Given the description of an element on the screen output the (x, y) to click on. 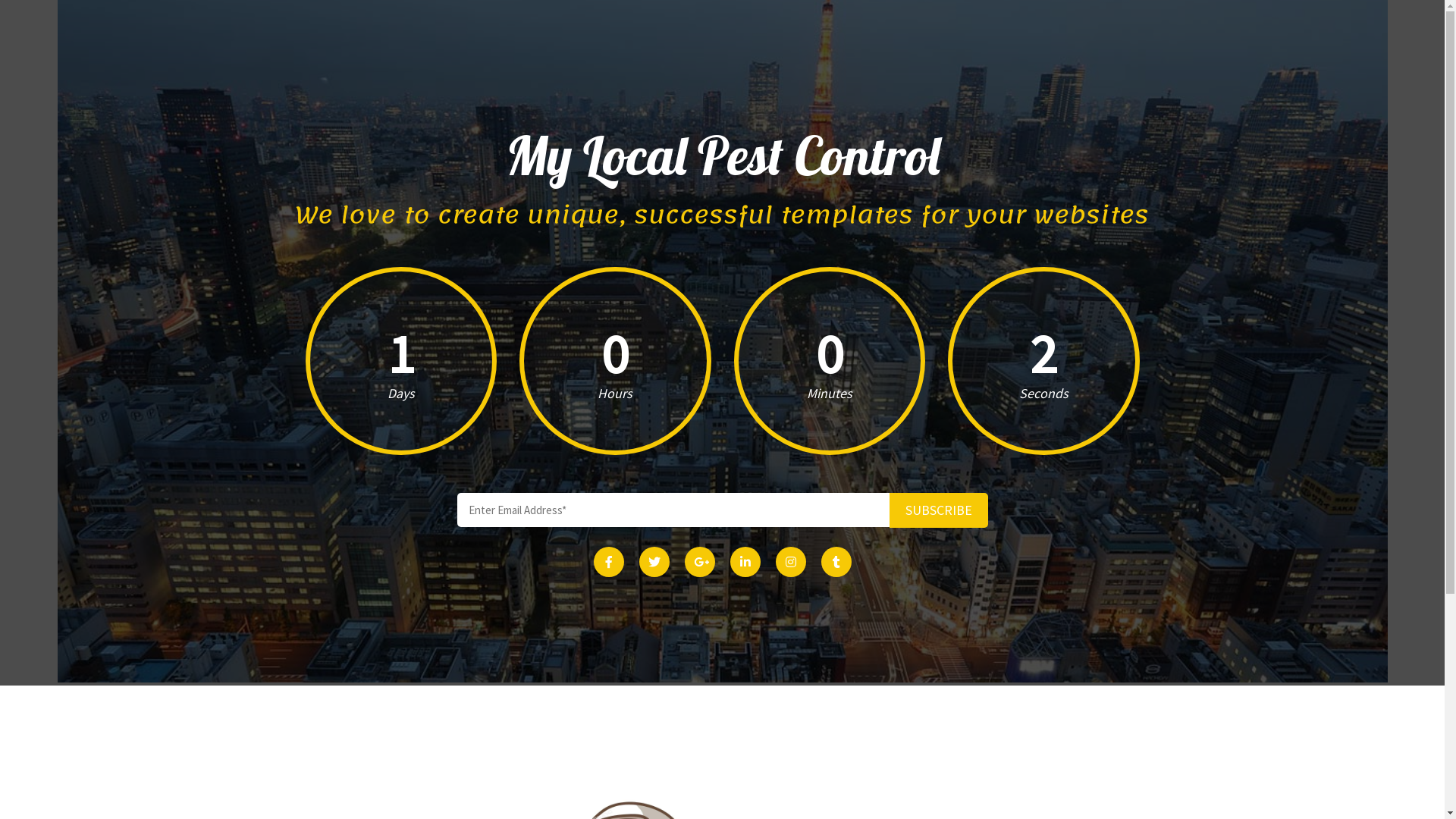
My Local Pest Control Element type: text (722, 155)
SUBSCRIBE Element type: text (937, 509)
